Given the description of an element on the screen output the (x, y) to click on. 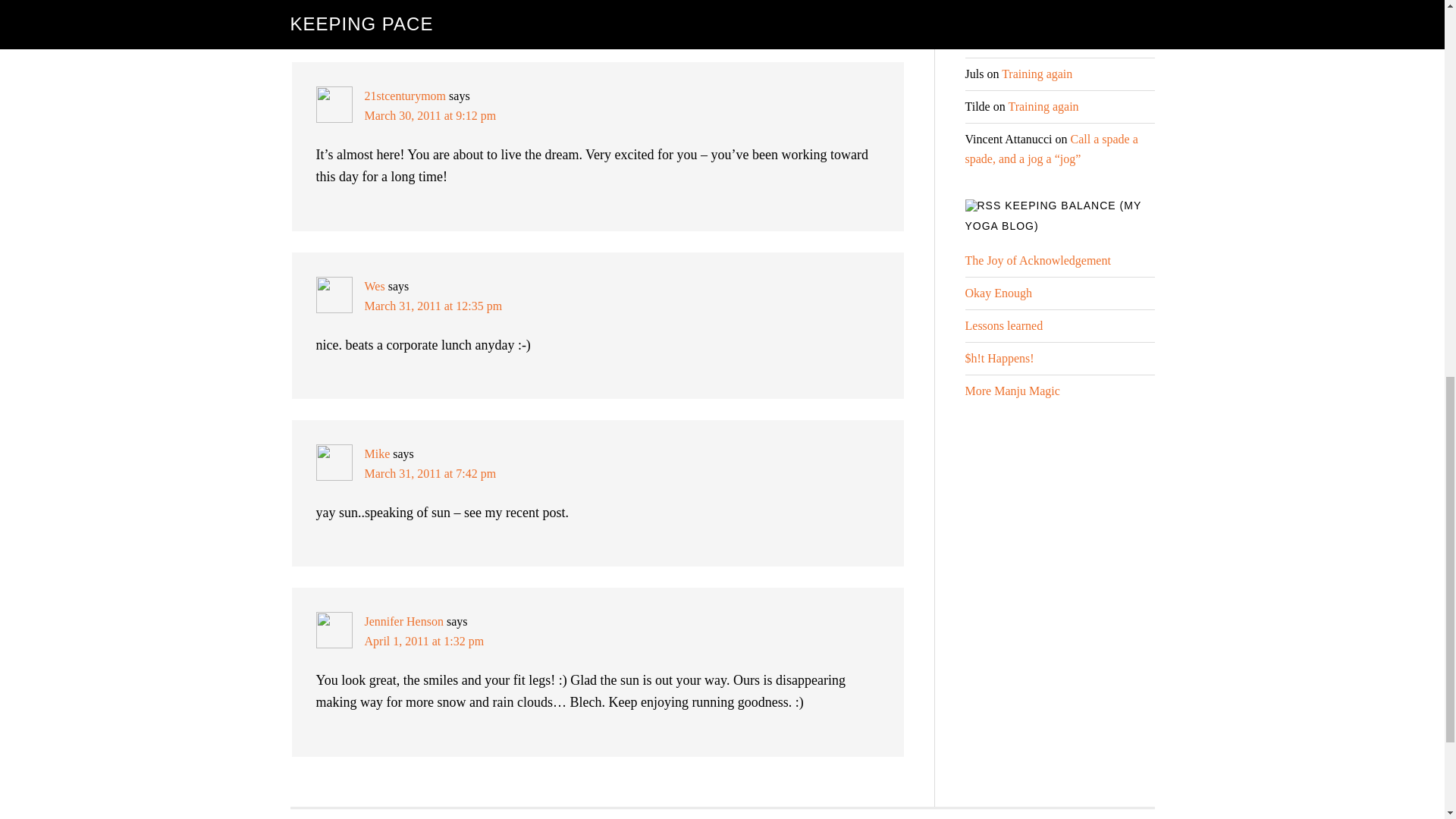
March 31, 2011 at 7:42 pm (430, 472)
Jennifer Henson (403, 621)
April 1, 2011 at 1:32 pm (423, 640)
Mike (377, 453)
March 31, 2011 at 12:35 pm (433, 305)
Training again (1036, 73)
Wes (374, 286)
Training again (1042, 106)
21stcenturymom (404, 95)
March 30, 2011 at 9:12 pm (430, 115)
T minus 21d (1100, 41)
When you need a little nudge to get going (1052, 7)
